Given the description of an element on the screen output the (x, y) to click on. 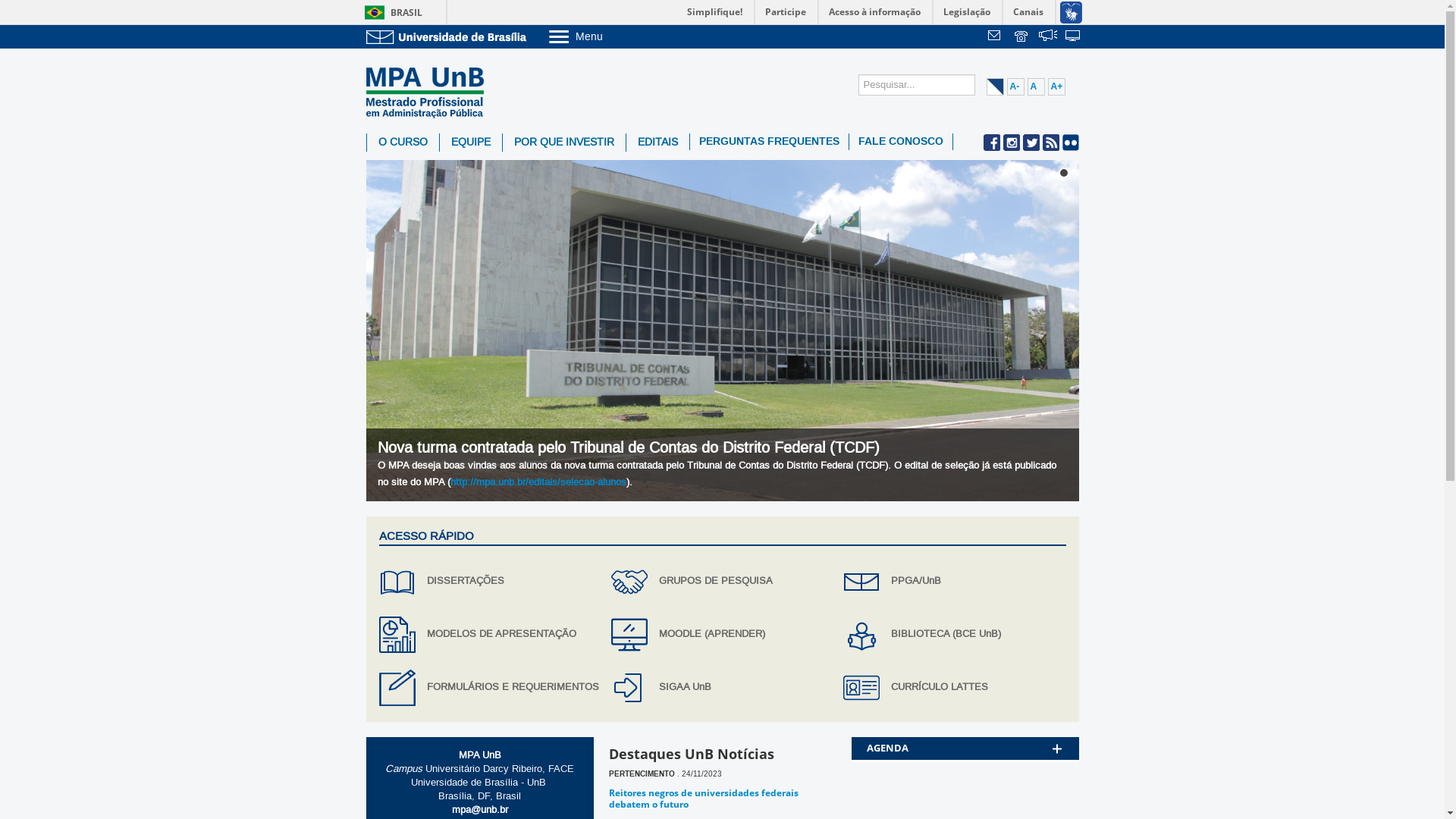
Fala.BR Element type: hover (1047, 37)
Sistemas Element type: hover (1073, 37)
  Element type: text (1047, 37)
Ir para o Portal da UnB Element type: hover (448, 36)
  Element type: text (1022, 37)
GRUPOS DE PESQUISA Element type: text (722, 581)
http://mpa.unb.br/editais/selecao-alunos Element type: text (538, 482)
Menu Element type: text (613, 35)
  Element type: text (996, 37)
A Element type: text (1035, 86)
SIGAA UnB Element type: text (722, 687)
FALE CONOSCO Element type: text (900, 141)
  Element type: text (1073, 37)
PERGUNTAS FREQUENTES Element type: text (769, 141)
BRASIL Element type: text (389, 12)
PPGA/UnB Element type: text (954, 581)
Telefones da UnB Element type: hover (1022, 37)
A- Element type: text (1015, 86)
BIBLIOTECA (BCE UnB) Element type: text (954, 634)
MOODLE (APRENDER) Element type: text (722, 634)
Reitores negros de universidades federais debatem o futuro Element type: text (702, 797)
Webmail Element type: hover (996, 37)
+ Element type: text (1056, 729)
A+ Element type: text (1056, 86)
